Given the description of an element on the screen output the (x, y) to click on. 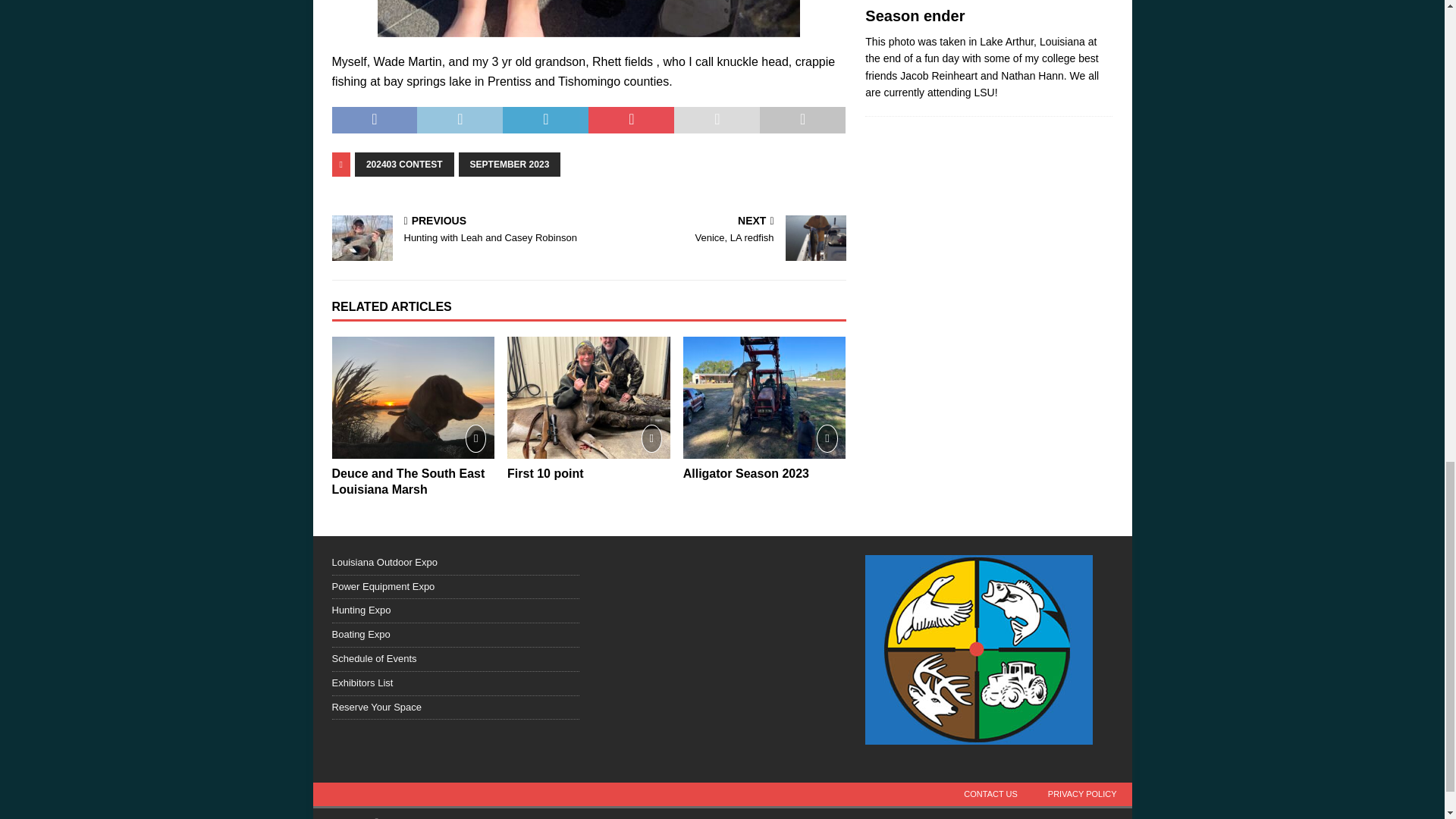
Alligator Season 2023 (745, 472)
First 10 point (544, 472)
First 10 point (587, 397)
Deuce and The South East Louisiana Marsh (413, 397)
Alligator Season 2023 (763, 397)
Deuce and The South East Louisiana Marsh (407, 481)
